Given the description of an element on the screen output the (x, y) to click on. 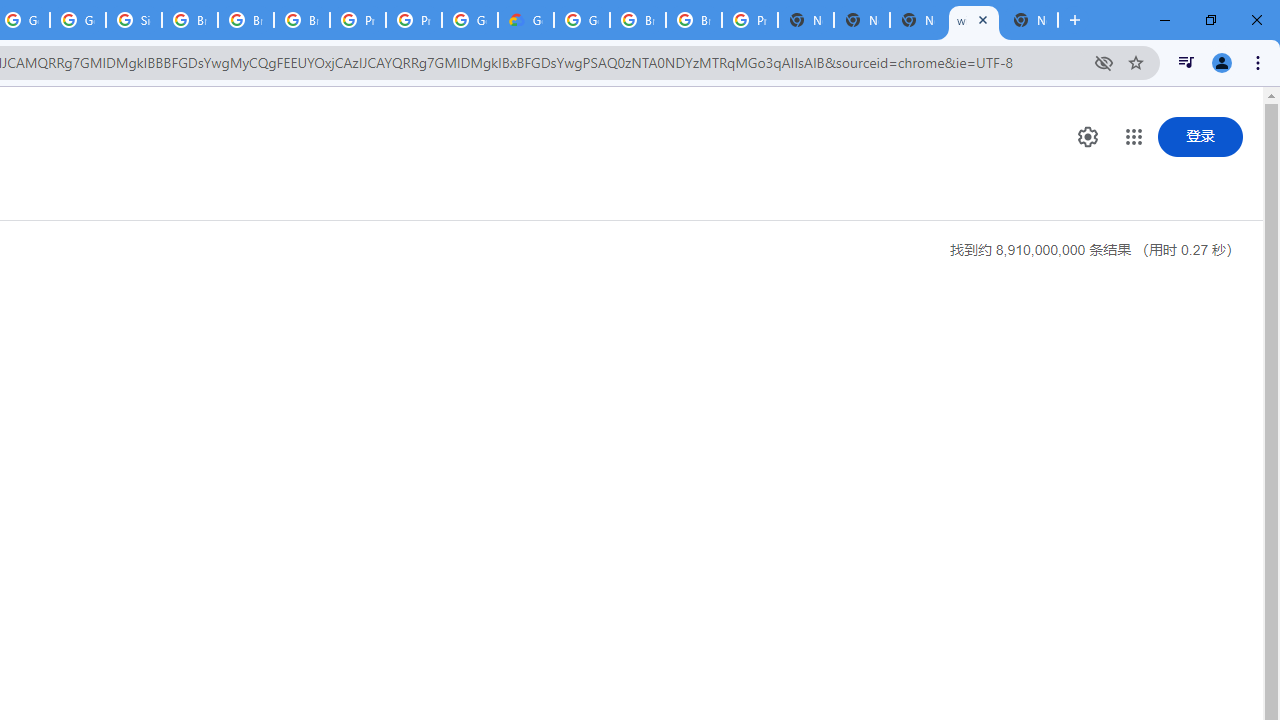
Browse Chrome as a guest - Computer - Google Chrome Help (301, 20)
Browse Chrome as a guest - Computer - Google Chrome Help (637, 20)
New Tab (806, 20)
Browse Chrome as a guest - Computer - Google Chrome Help (189, 20)
New Tab (1030, 20)
